Given the description of an element on the screen output the (x, y) to click on. 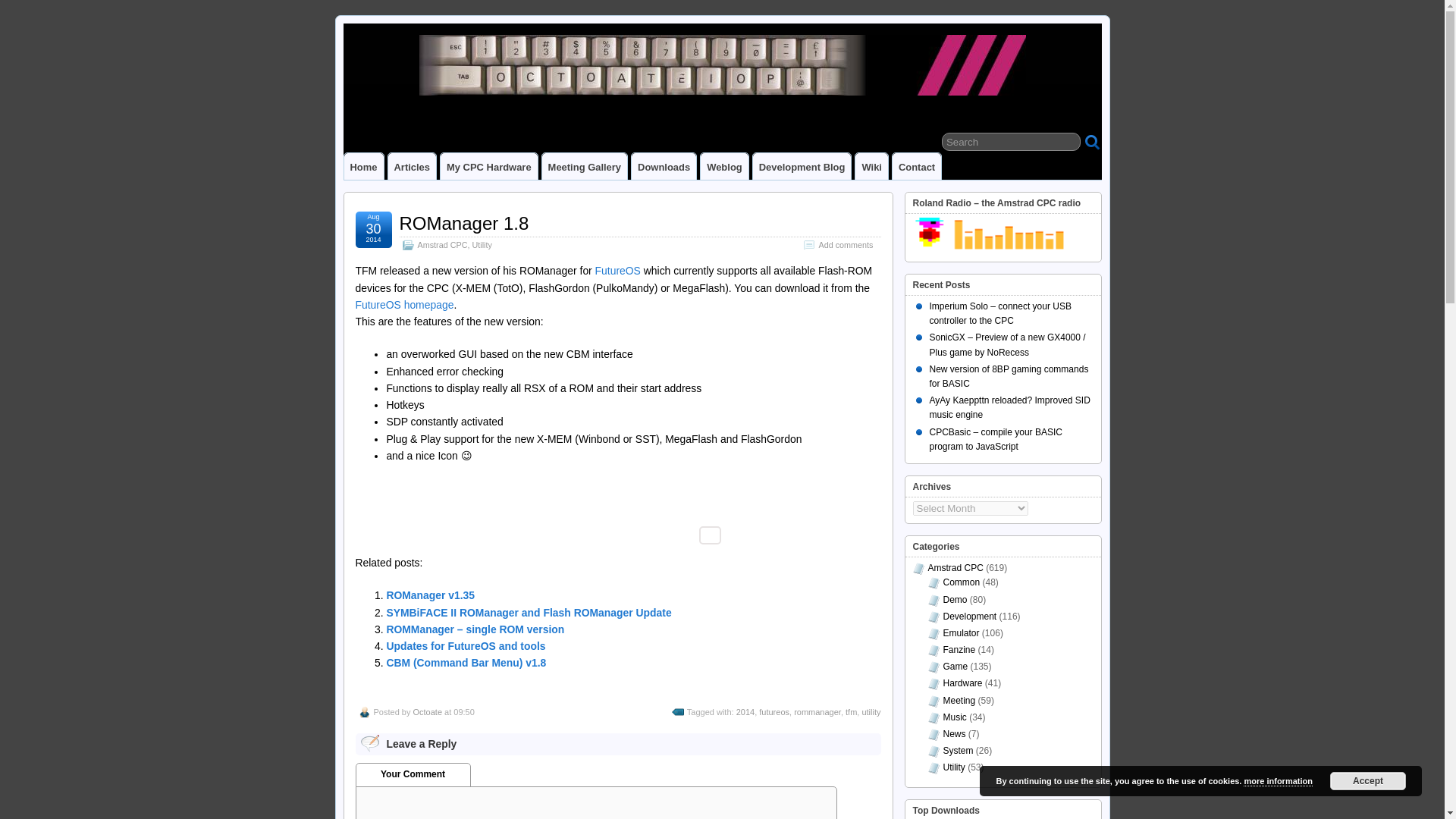
futureos (773, 711)
utility (870, 711)
New version of 8BP gaming commands for BASIC (1009, 376)
2014 (745, 711)
SYMBiFACE II ROManager and Flash ROManager Update (528, 612)
ROManager 1.8 (463, 222)
Amstrad CPC (956, 567)
rommanager (817, 711)
Updates for FutureOS and tools (464, 645)
Wiki (872, 166)
